Given the description of an element on the screen output the (x, y) to click on. 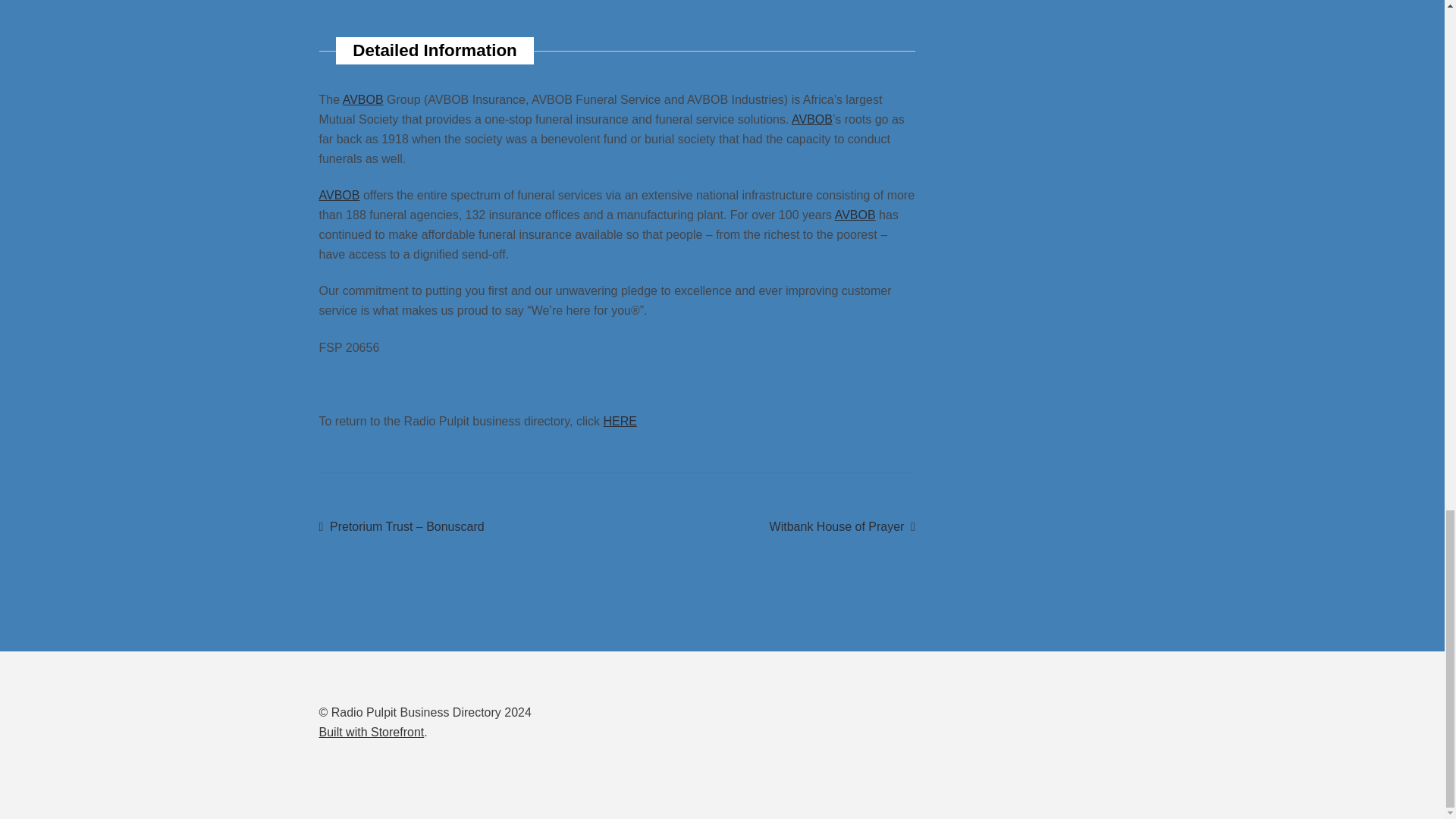
AVBOB (855, 214)
HERE (620, 420)
AVBOB (338, 195)
Built with Storefront (842, 526)
AVBOB (371, 731)
AVBOB (812, 119)
